Given the description of an element on the screen output the (x, y) to click on. 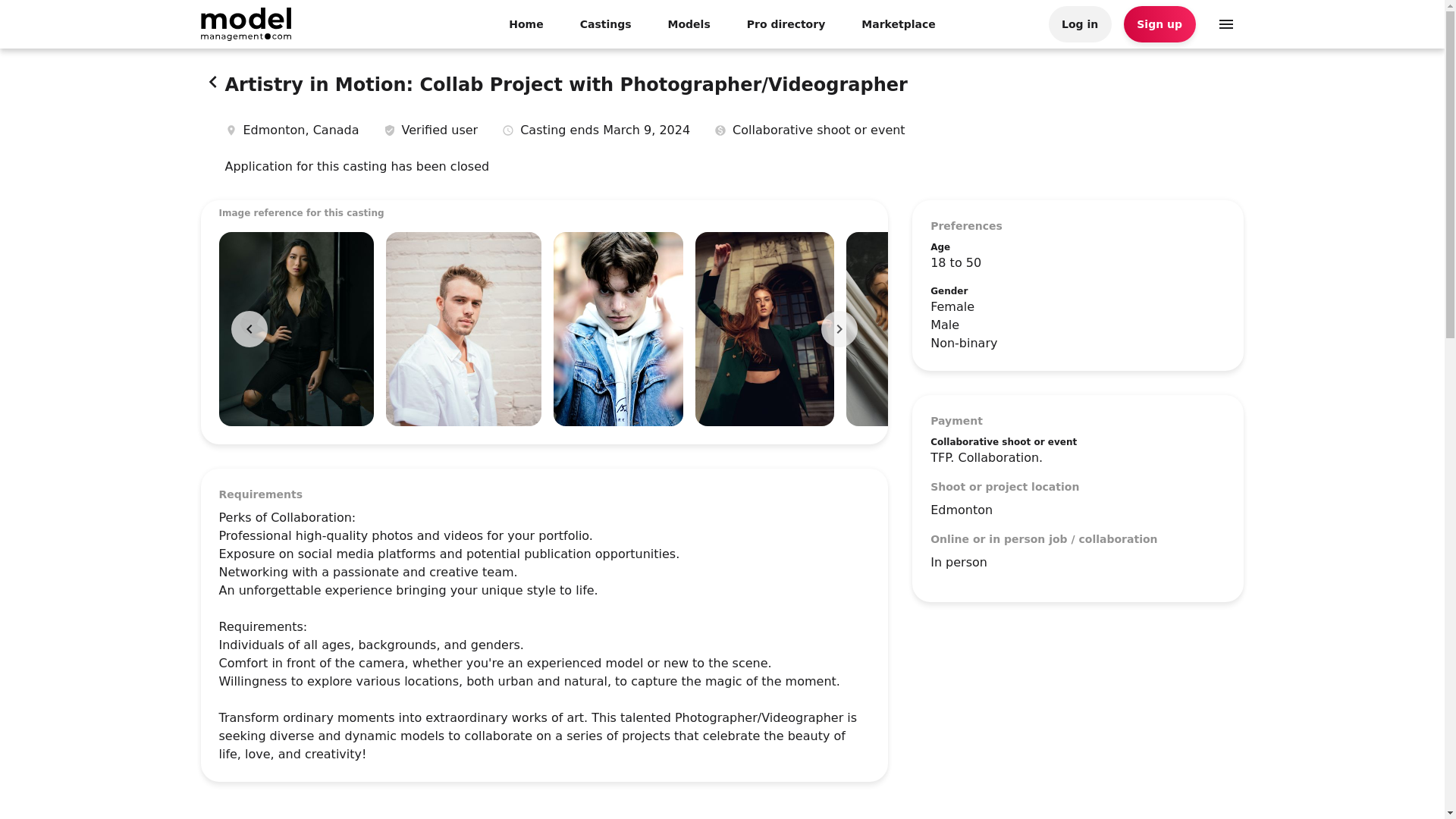
Pro directory (786, 23)
Home (525, 23)
Sign up (1159, 23)
Castings (605, 23)
Log in (1080, 23)
Marketplace (898, 23)
Models (689, 23)
